Given the description of an element on the screen output the (x, y) to click on. 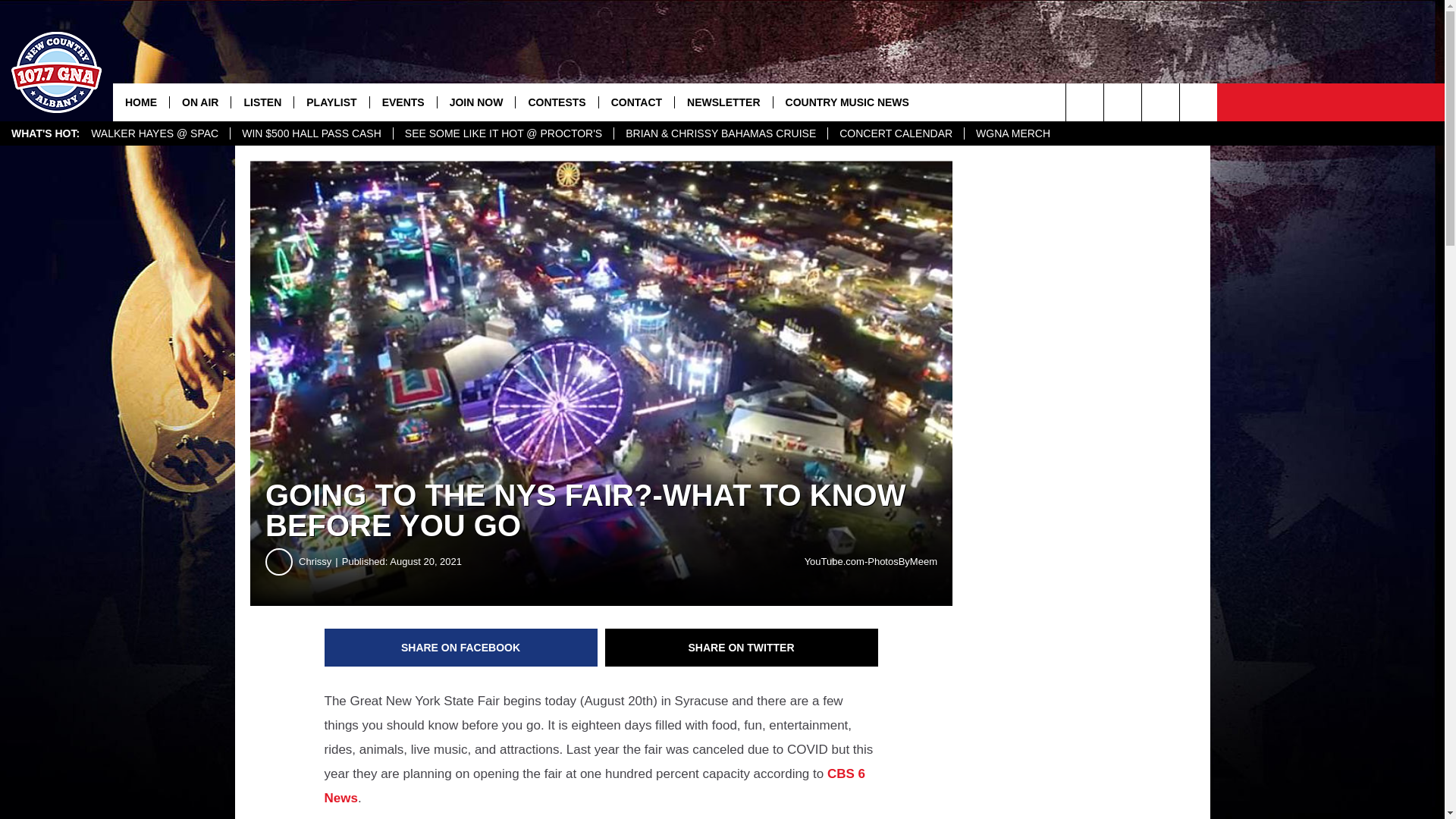
CONTESTS (555, 102)
Share on Twitter (741, 647)
HOME (140, 102)
JOIN NOW (475, 102)
EVENTS (402, 102)
CONTACT (636, 102)
Share on Facebook (460, 647)
ON AIR (199, 102)
PLAYLIST (331, 102)
LISTEN (262, 102)
